Given the description of an element on the screen output the (x, y) to click on. 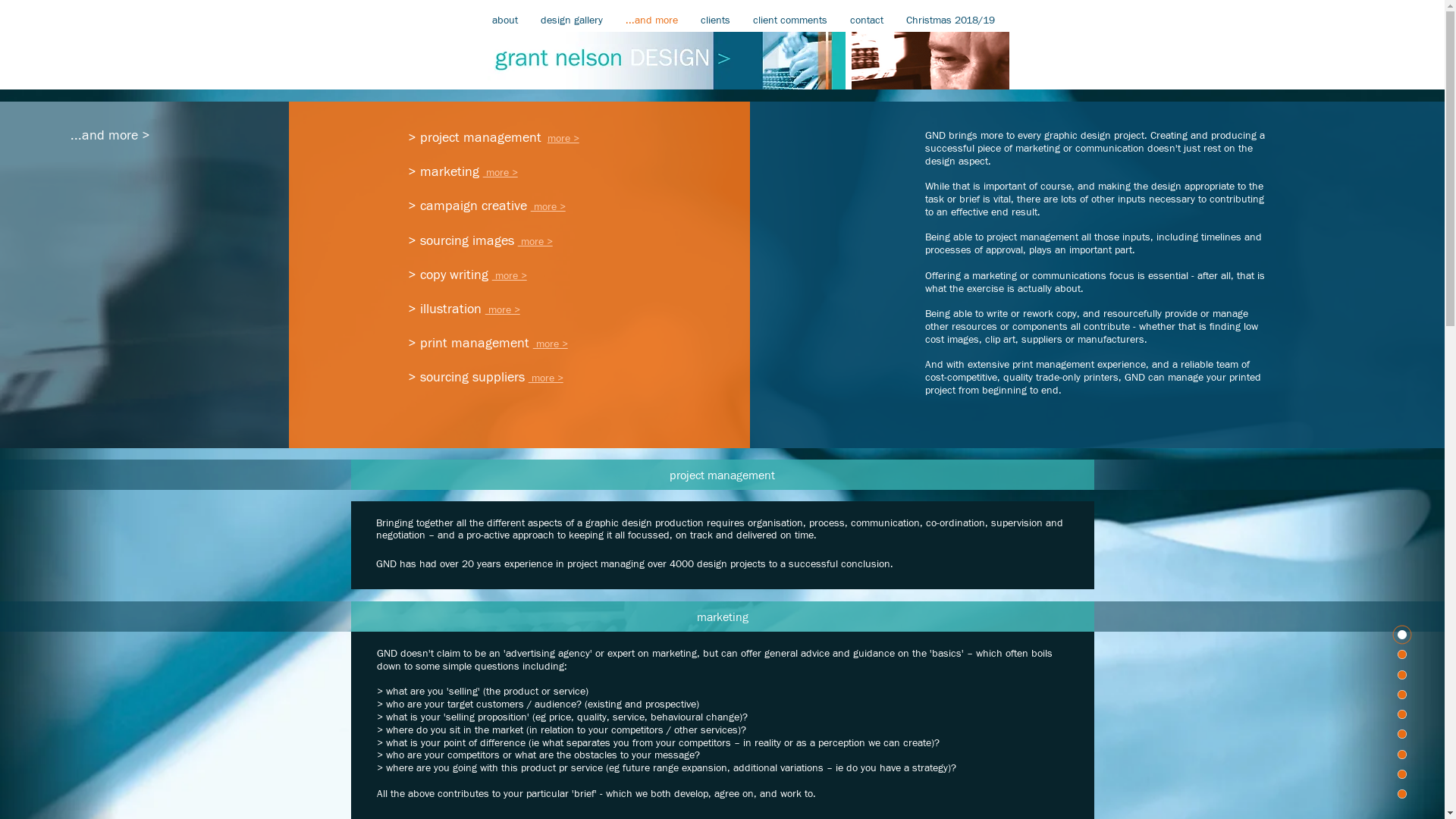
 more > Element type: text (509, 275)
 more > Element type: text (502, 310)
Christmas 2018/19 Element type: text (950, 20)
clients Element type: text (714, 20)
 more > Element type: text (550, 344)
 more > Element type: text (534, 241)
 more > Element type: text (500, 172)
more > Element type: text (563, 138)
 more > Element type: text (547, 206)
design gallery Element type: text (571, 20)
about Element type: text (504, 20)
...and more Element type: text (651, 20)
 more > Element type: text (545, 378)
contact Element type: text (866, 20)
client comments Element type: text (789, 20)
